Given the description of an element on the screen output the (x, y) to click on. 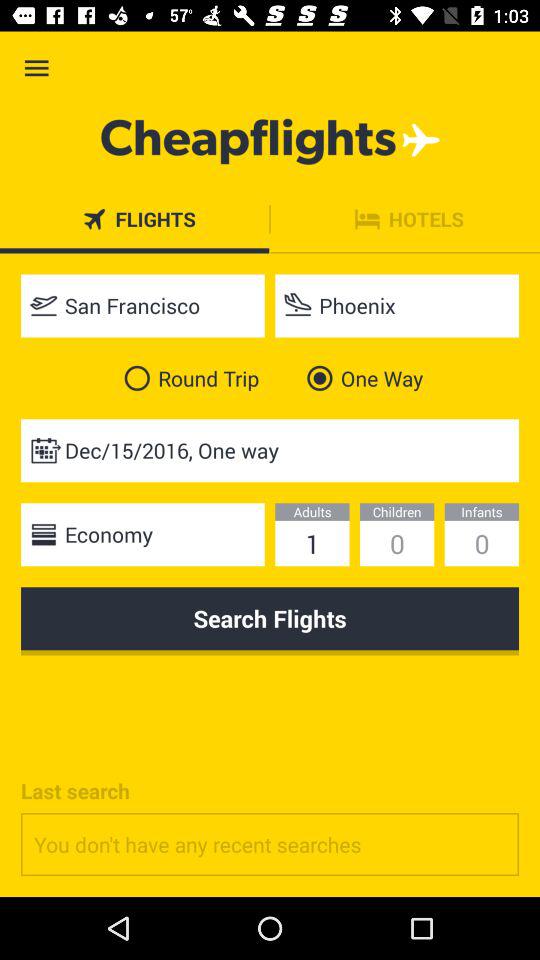
press the icon next to the phoenix icon (142, 305)
